Given the description of an element on the screen output the (x, y) to click on. 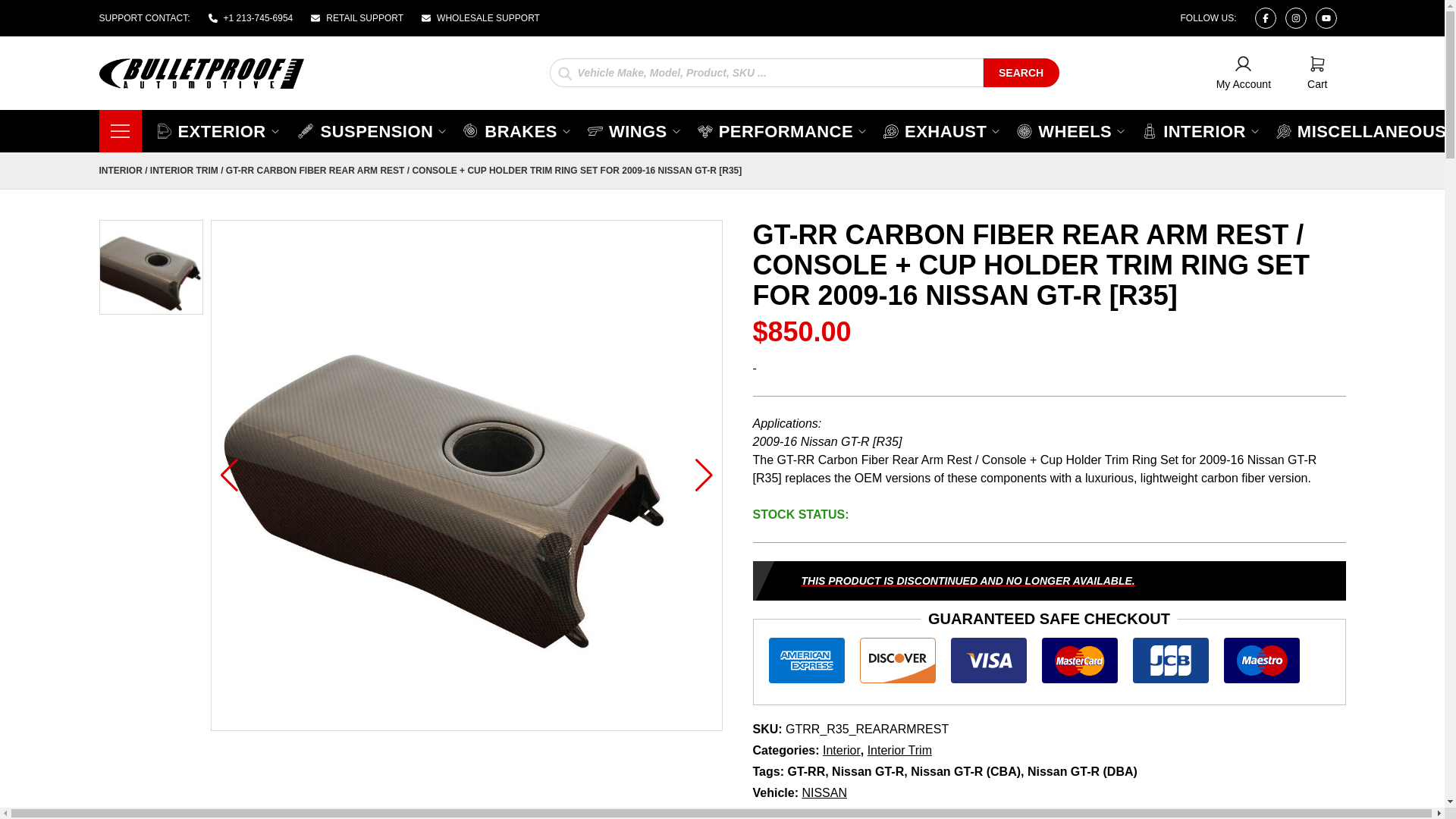
SEARCH (1021, 71)
BRAKES (517, 130)
WHOLESALE SUPPORT (481, 18)
Youtube (1325, 17)
Instagram (1295, 17)
SUSPENSION (372, 130)
RETAIL SUPPORT (1243, 73)
Facebook (1316, 73)
